Given the description of an element on the screen output the (x, y) to click on. 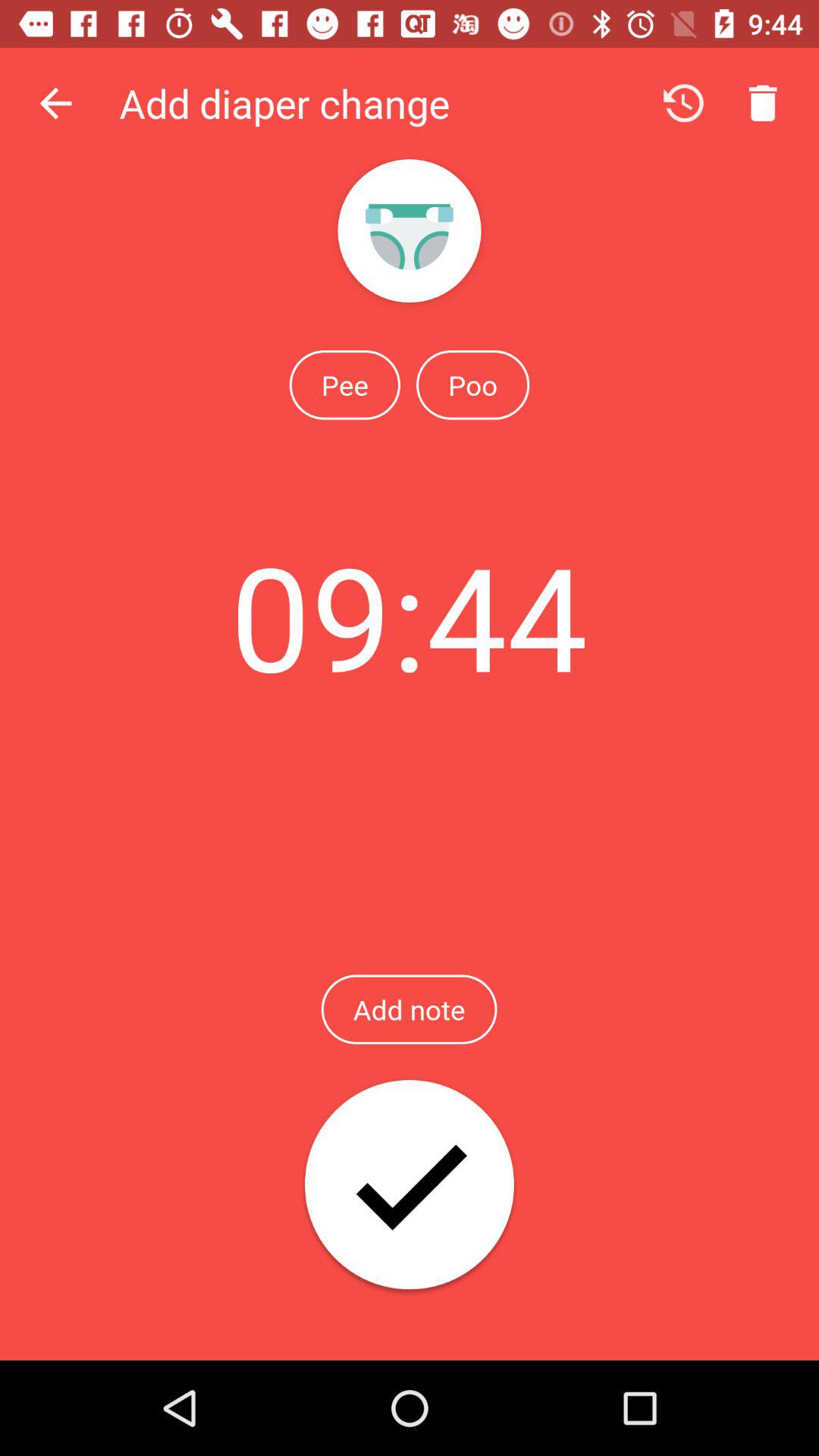
turn off the pee icon (344, 384)
